Given the description of an element on the screen output the (x, y) to click on. 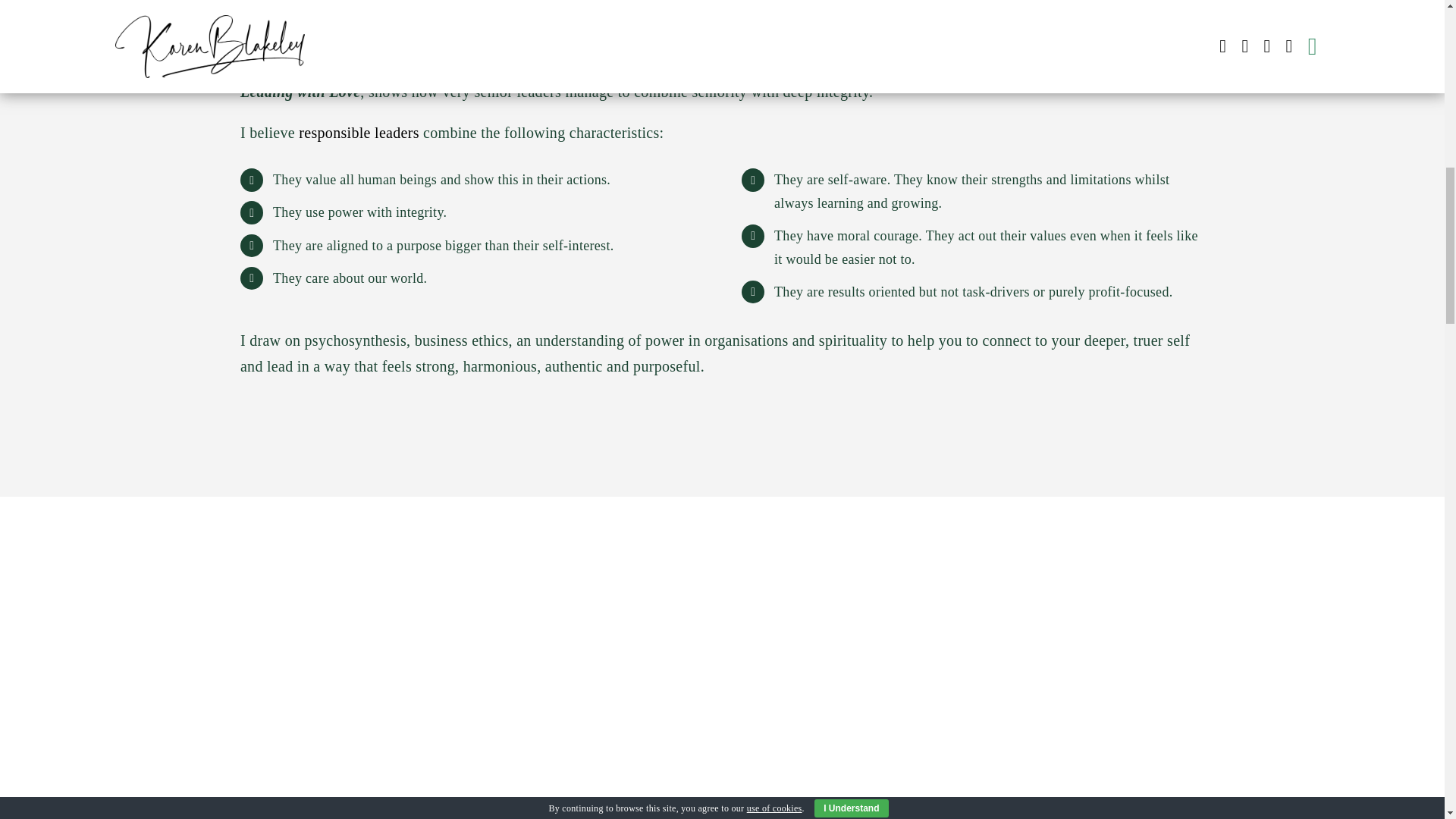
responsible leaders (358, 132)
accredited leadership and psychosynthesis coach (438, 23)
positive difference in the world (593, 64)
